Given the description of an element on the screen output the (x, y) to click on. 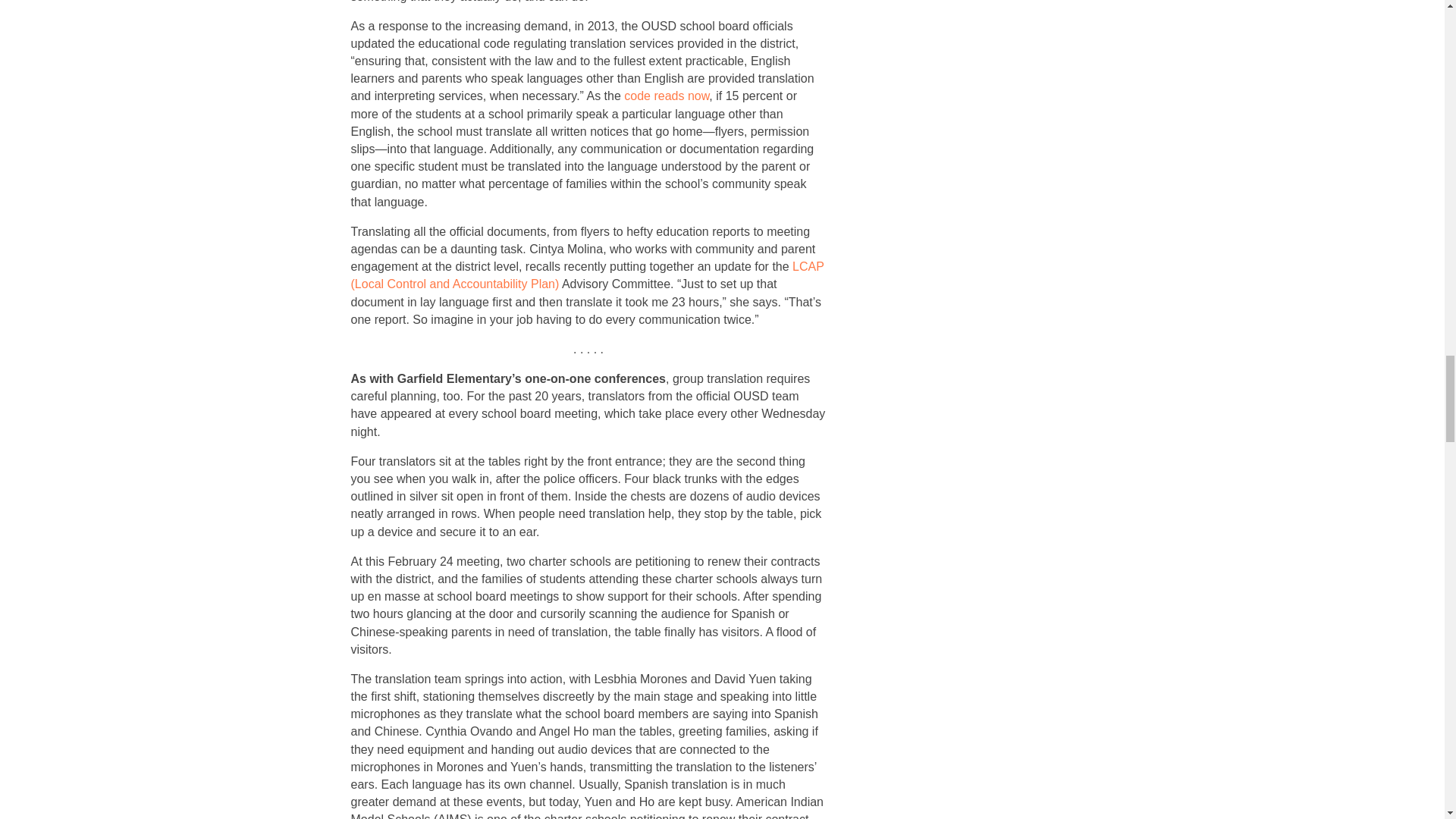
code reads now (666, 95)
